Given the description of an element on the screen output the (x, y) to click on. 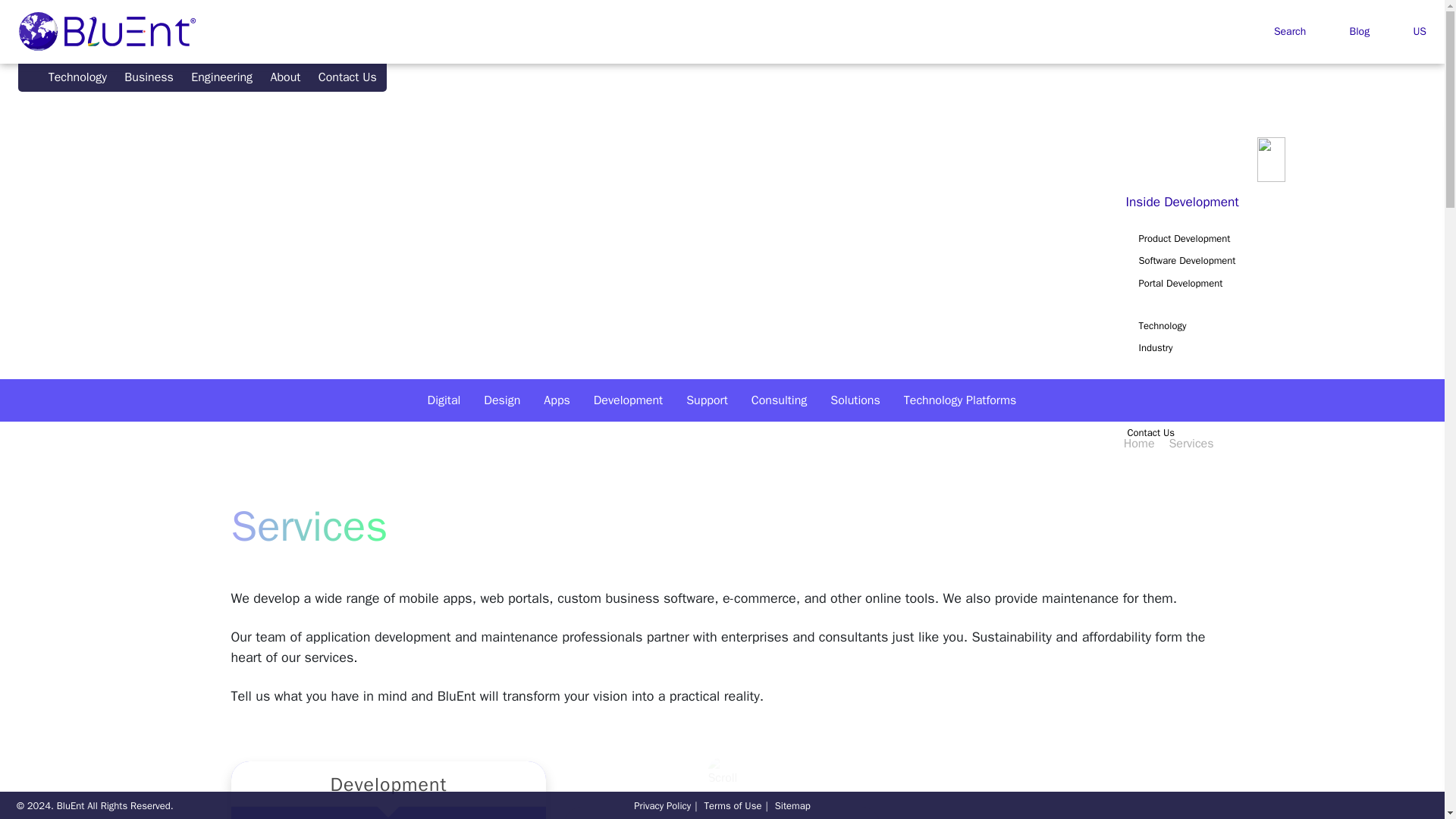
Search (1279, 31)
US (1408, 31)
Contact Us (346, 77)
Technology (77, 77)
Engineering (222, 77)
Facbook (1281, 804)
Business (149, 77)
About (285, 77)
Sitemap (792, 805)
